Given the description of an element on the screen output the (x, y) to click on. 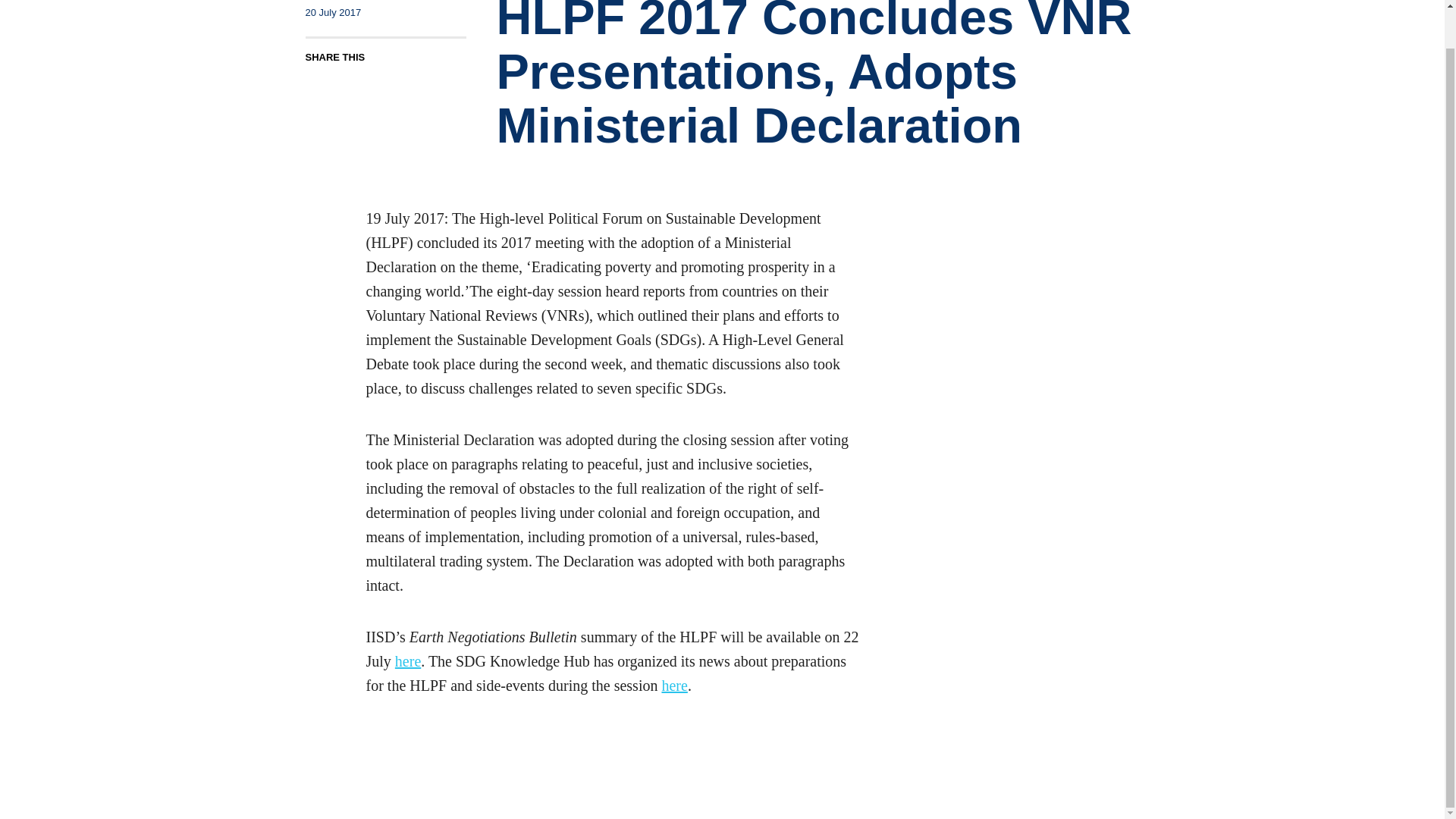
here (674, 685)
here (407, 660)
